Given the description of an element on the screen output the (x, y) to click on. 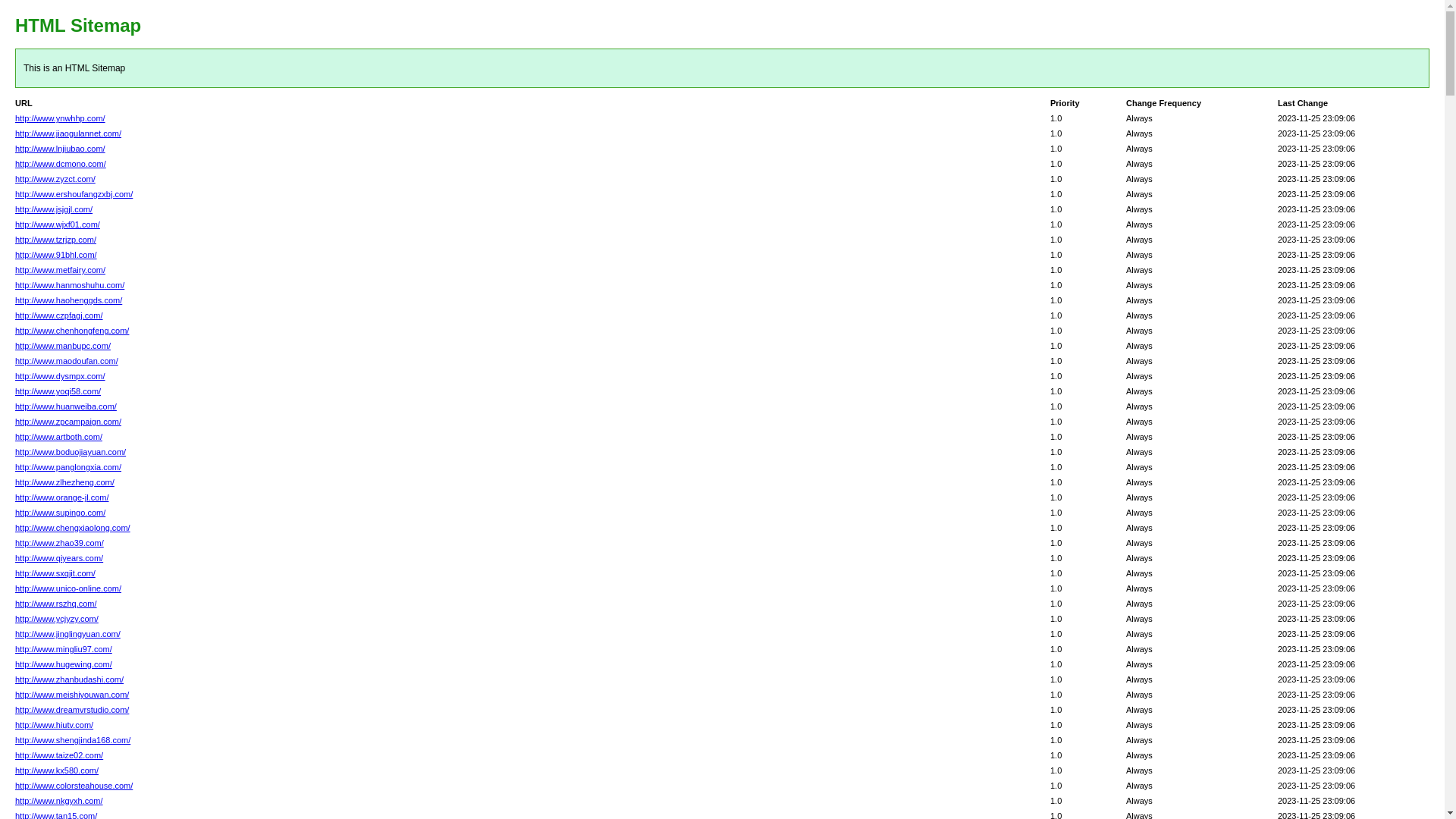
http://www.hanmoshuhu.com/ Element type: text (69, 284)
http://www.jsjgjl.com/ Element type: text (53, 208)
http://www.metfairy.com/ Element type: text (60, 269)
http://www.chengxiaolong.com/ Element type: text (72, 527)
http://www.mingliu97.com/ Element type: text (63, 648)
http://www.orange-jl.com/ Element type: text (62, 497)
http://www.qiyears.com/ Element type: text (59, 557)
http://www.jinglingyuan.com/ Element type: text (67, 633)
http://www.lnjiubao.com/ Element type: text (60, 148)
http://www.yoqi58.com/ Element type: text (57, 390)
http://www.jiaogulannet.com/ Element type: text (68, 133)
http://www.tzrjzp.com/ Element type: text (55, 239)
http://www.unico-online.com/ Element type: text (68, 588)
http://www.zpcampaign.com/ Element type: text (68, 421)
http://www.91bhl.com/ Element type: text (56, 254)
http://www.dysmpx.com/ Element type: text (60, 375)
http://www.boduojiayuan.com/ Element type: text (70, 451)
http://www.ershoufangzxbj.com/ Element type: text (73, 193)
http://www.dreamvrstudio.com/ Element type: text (71, 709)
http://www.panglongxia.com/ Element type: text (68, 466)
http://www.manbupc.com/ Element type: text (62, 345)
http://www.huanweiba.com/ Element type: text (65, 406)
http://www.zhao39.com/ Element type: text (59, 542)
http://www.shengjinda168.com/ Element type: text (72, 739)
http://www.dcmono.com/ Element type: text (60, 163)
http://www.chenhongfeng.com/ Element type: text (71, 330)
http://www.artboth.com/ Element type: text (58, 436)
http://www.maodoufan.com/ Element type: text (66, 360)
http://www.supingo.com/ Element type: text (60, 512)
http://www.zhanbudashi.com/ Element type: text (69, 679)
http://www.ycjyzy.com/ Element type: text (56, 618)
http://www.rszhq.com/ Element type: text (56, 603)
http://www.wjxf01.com/ Element type: text (57, 224)
http://www.kx580.com/ Element type: text (56, 770)
http://www.zlhezheng.com/ Element type: text (64, 481)
http://www.hiutv.com/ Element type: text (54, 724)
http://www.meishiyouwan.com/ Element type: text (71, 694)
http://www.taize02.com/ Element type: text (59, 754)
http://www.hugewing.com/ Element type: text (63, 663)
http://www.sxqjit.com/ Element type: text (55, 572)
http://www.zyzct.com/ Element type: text (55, 178)
http://www.czpfagj.com/ Element type: text (59, 315)
http://www.haohenggds.com/ Element type: text (68, 299)
http://www.nkgyxh.com/ Element type: text (59, 800)
http://www.ynwhhp.com/ Element type: text (60, 117)
http://www.colorsteahouse.com/ Element type: text (73, 785)
